Given the description of an element on the screen output the (x, y) to click on. 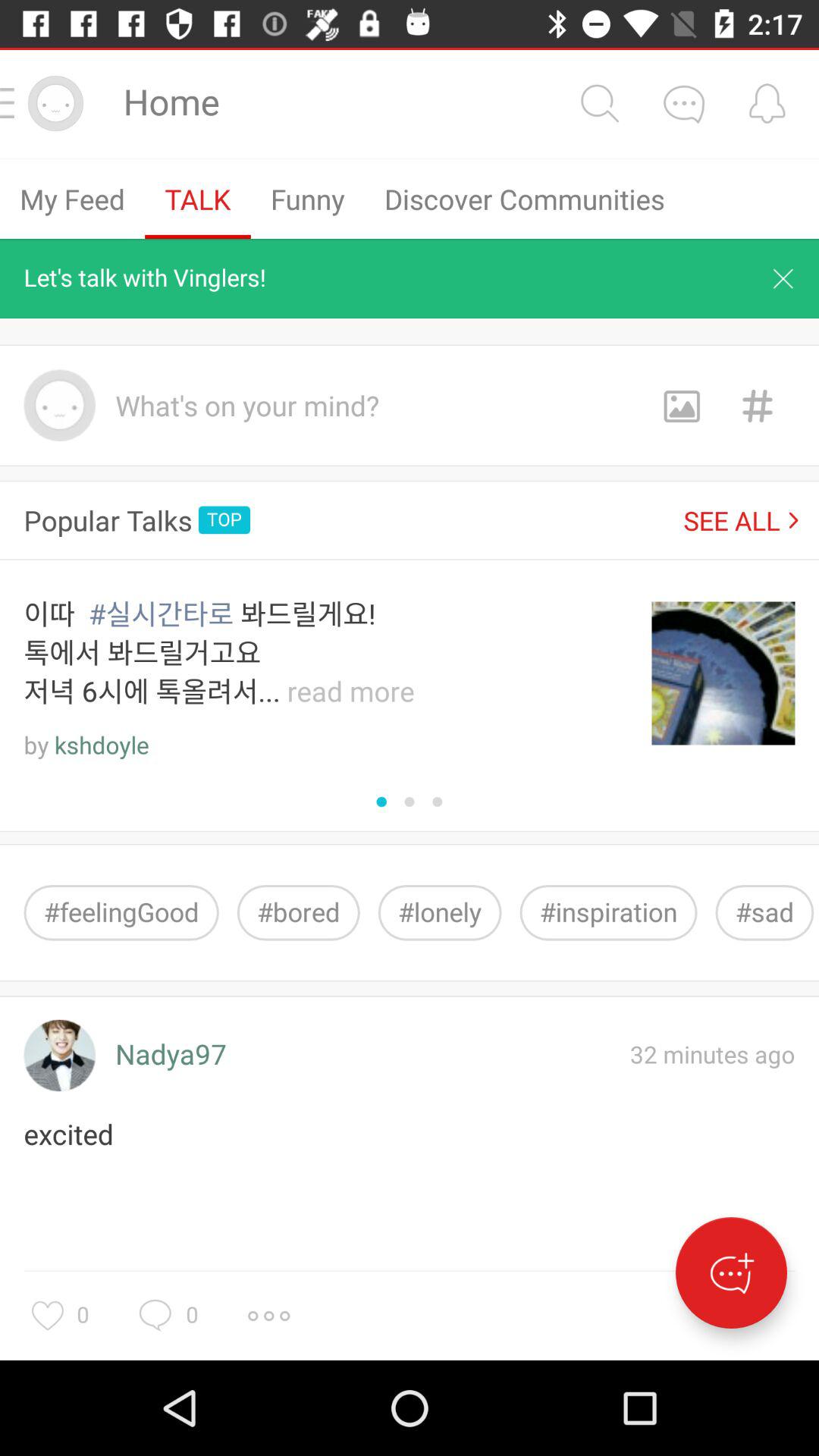
share the article (681, 405)
